Given the description of an element on the screen output the (x, y) to click on. 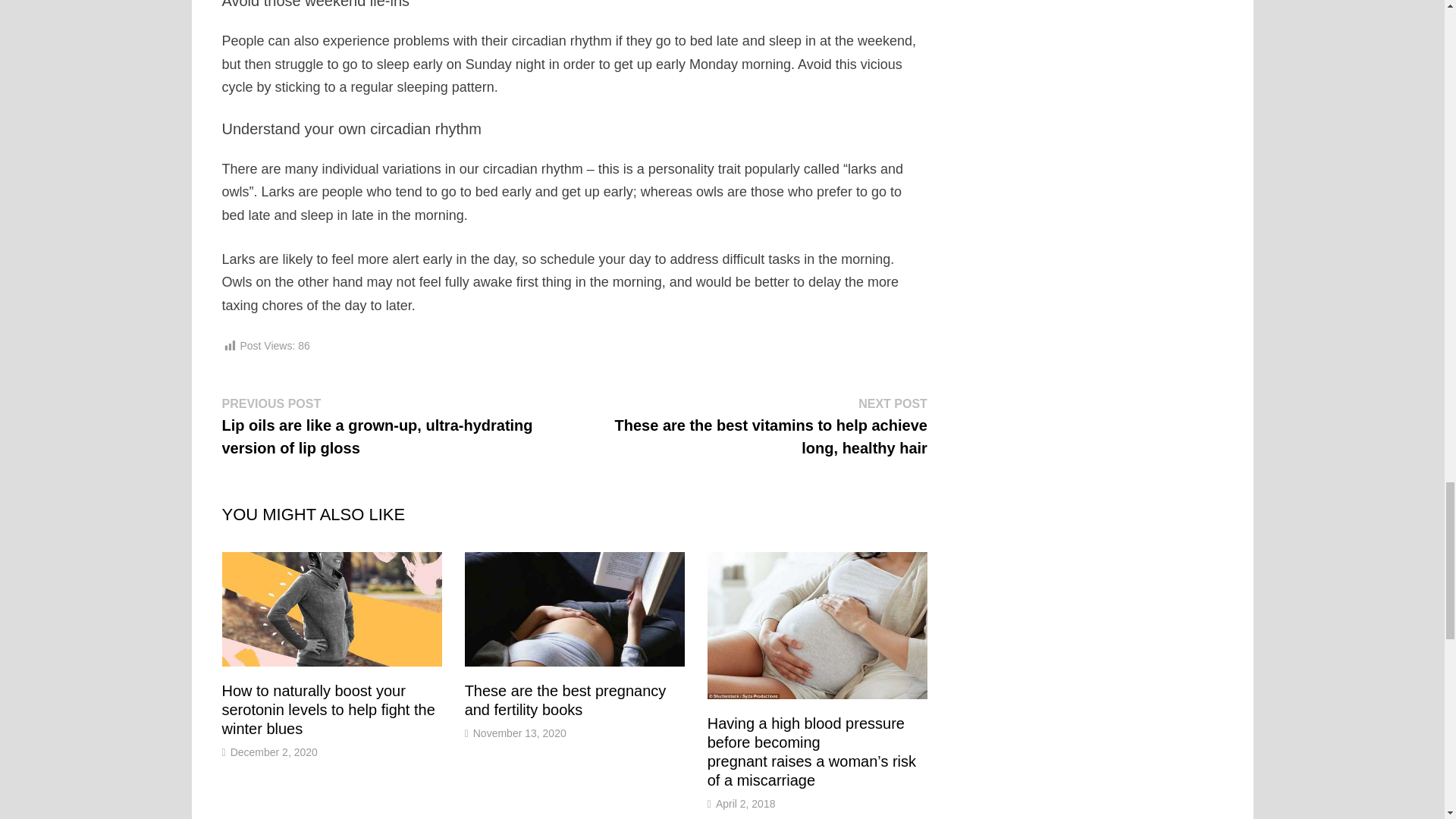
April 2, 2018 (746, 803)
These are the best pregnancy and fertility books (565, 700)
December 2, 2020 (273, 752)
These are the best pregnancy and fertility books (565, 700)
November 13, 2020 (519, 733)
